Given the description of an element on the screen output the (x, y) to click on. 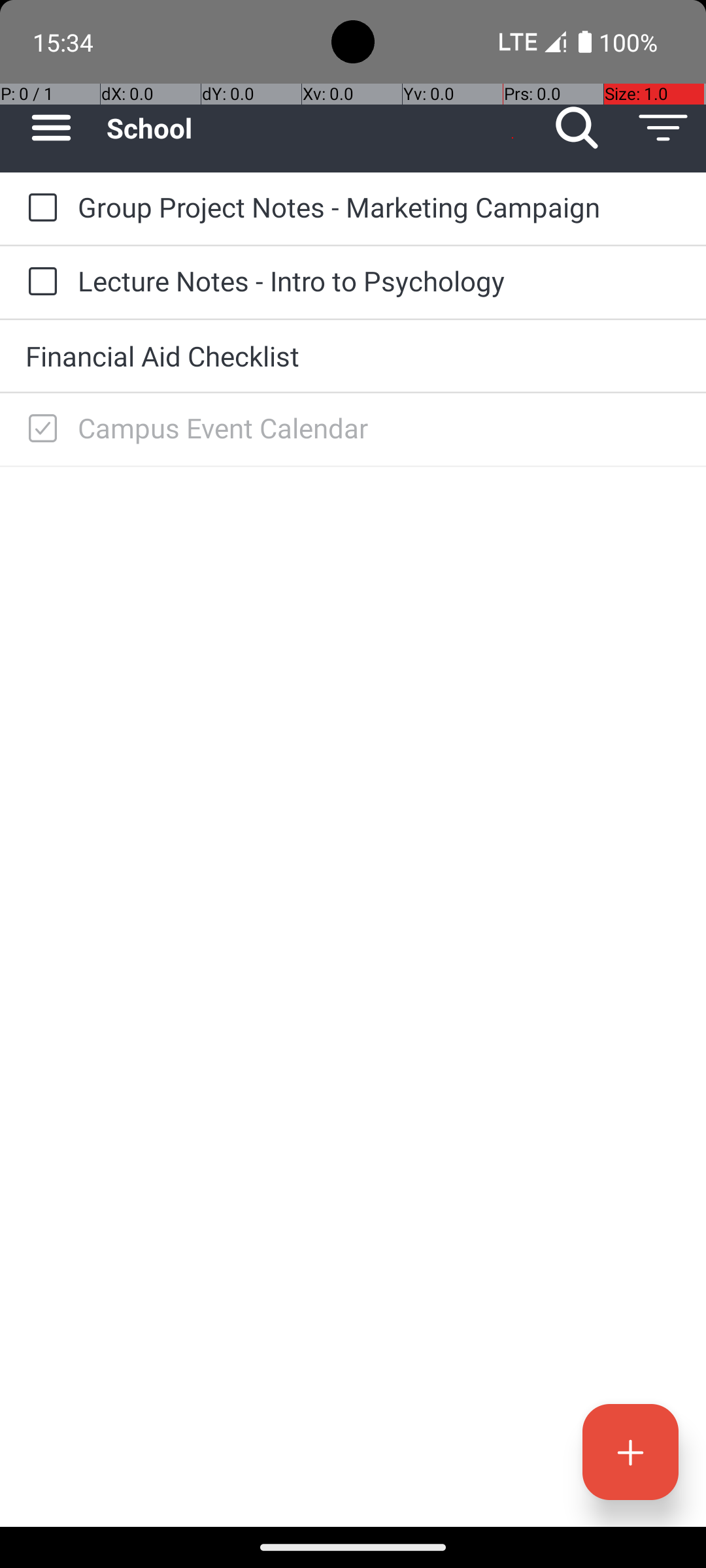
to-do: Group Project Notes - Marketing Campaign Element type: android.widget.CheckBox (38, 208)
Group Project Notes - Marketing Campaign Element type: android.widget.TextView (378, 206)
to-do: Lecture Notes - Intro to Psychology Element type: android.widget.CheckBox (38, 282)
Lecture Notes - Intro to Psychology Element type: android.widget.TextView (378, 280)
Financial Aid Checklist Element type: android.widget.TextView (352, 355)
to-do: Campus Event Calendar Element type: android.widget.CheckBox (38, 429)
Campus Event Calendar Element type: android.widget.TextView (378, 427)
